Given the description of an element on the screen output the (x, y) to click on. 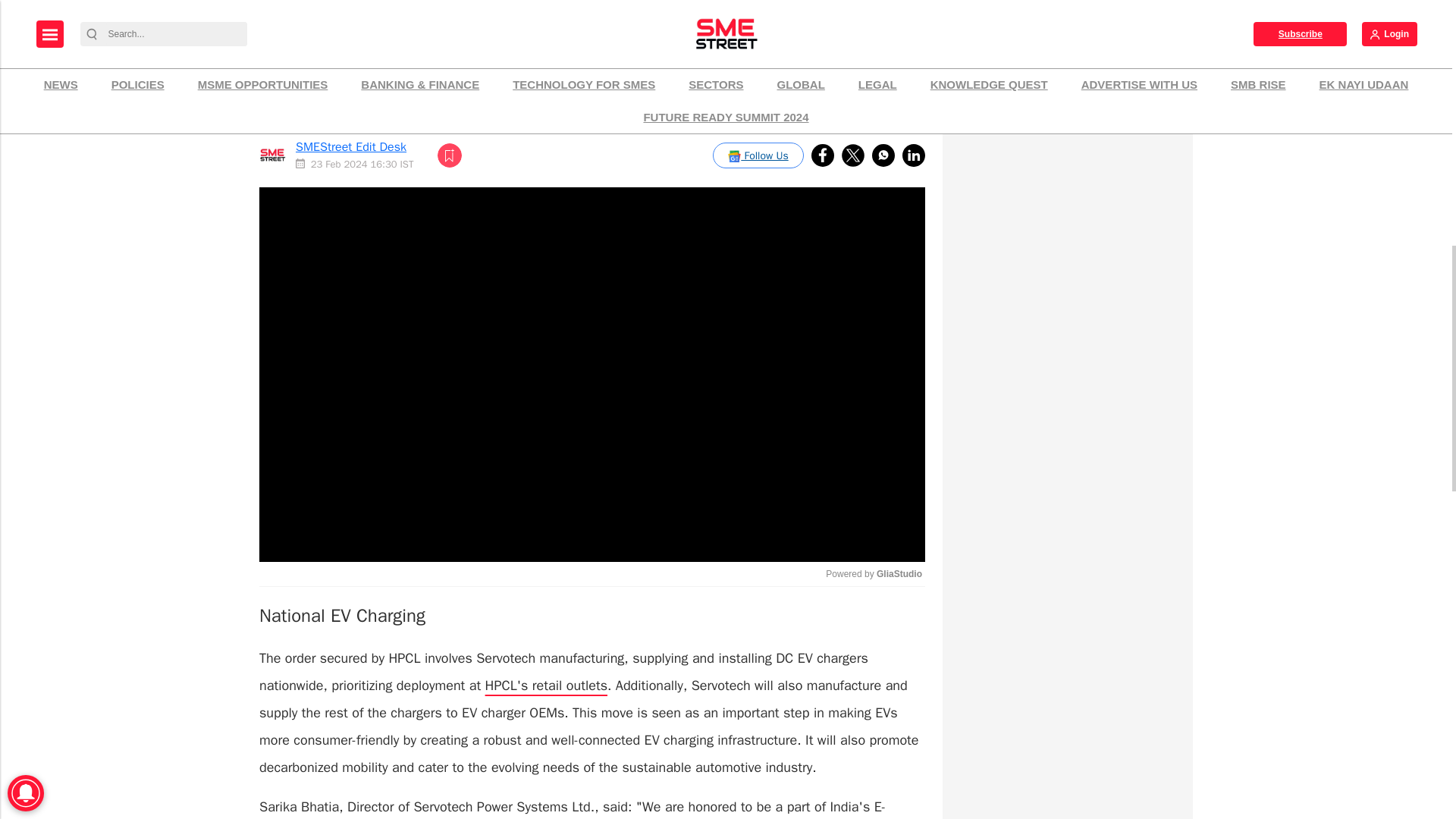
3rd party ad content (1066, 667)
3rd party ad content (1066, 113)
3rd party ad content (1066, 301)
3rd party ad content (1066, 773)
3rd party ad content (1066, 492)
